Given the description of an element on the screen output the (x, y) to click on. 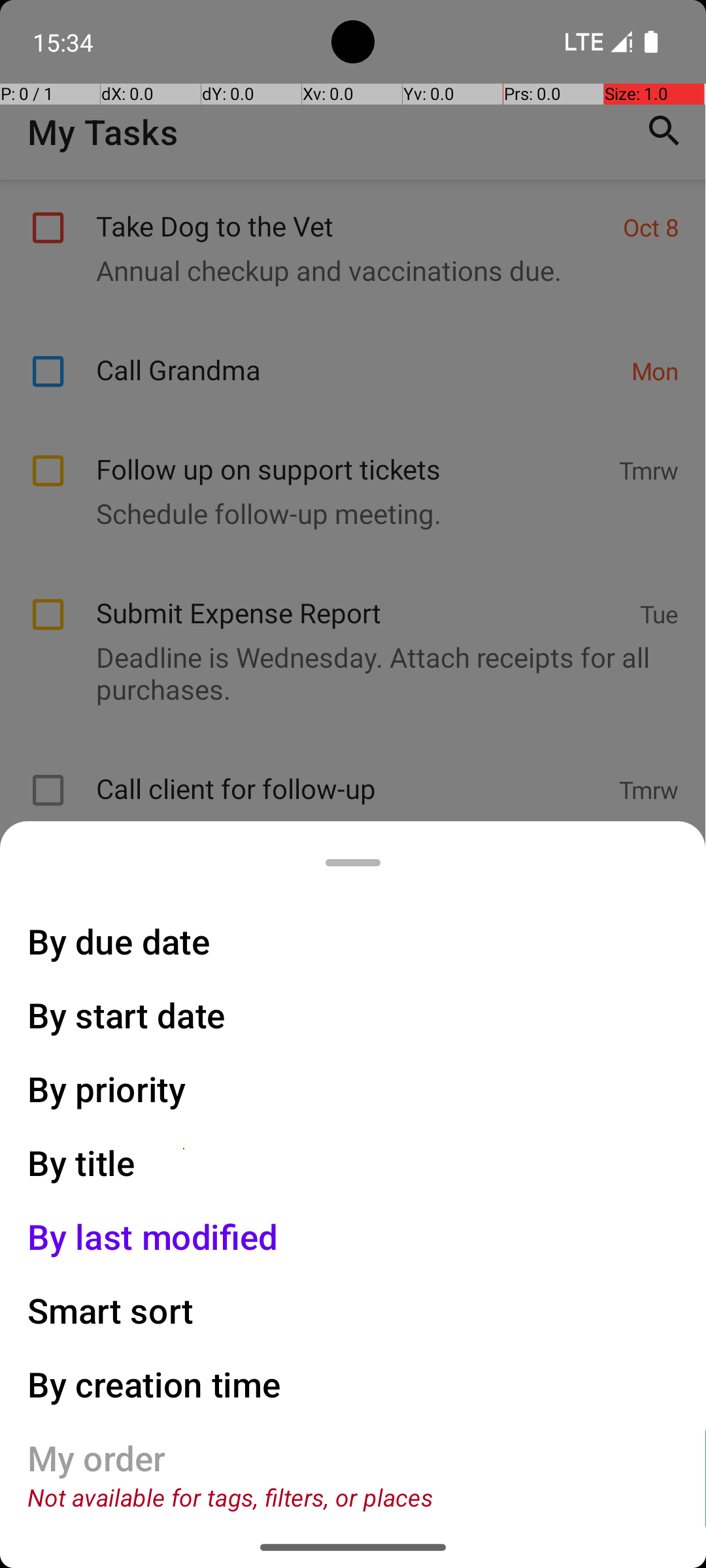
Drag handle Element type: android.view.View (352, 862)
By due date Element type: android.widget.TextView (119, 940)
By start date Element type: android.widget.TextView (126, 1014)
By priority Element type: android.widget.TextView (106, 1088)
By title Element type: android.widget.TextView (81, 1162)
By last modified Element type: android.widget.TextView (152, 1236)
Smart sort Element type: android.widget.TextView (110, 1310)
By creation time Element type: android.widget.TextView (154, 1383)
My order Element type: android.widget.TextView (96, 1457)
Not available for tags, filters, or places Element type: android.widget.TextView (230, 1497)
